Given the description of an element on the screen output the (x, y) to click on. 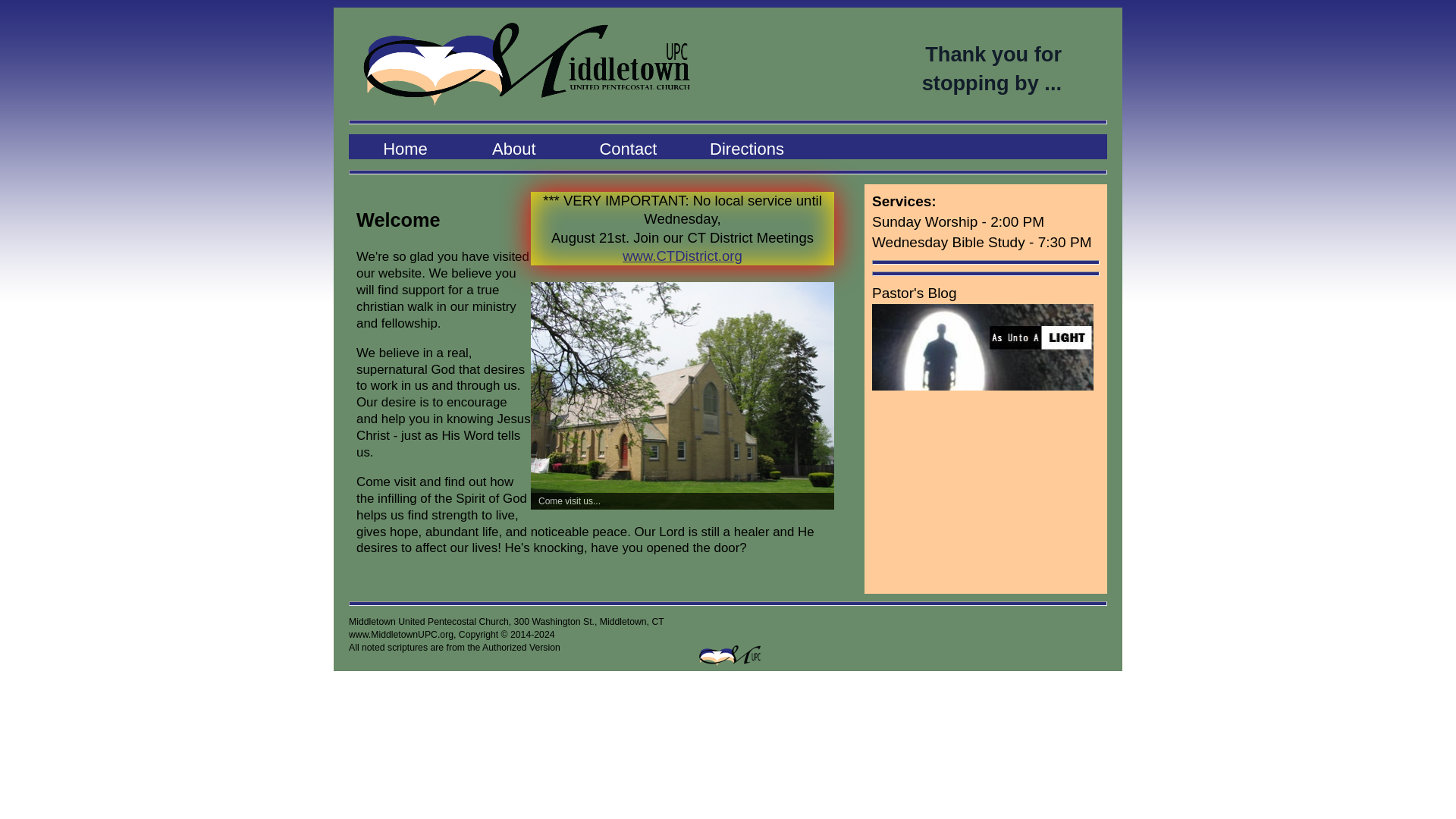
  About     (518, 146)
www.CTDistrict.org (693, 289)
    Directions       (747, 160)
      Questions...  (860, 160)
  Contact     (633, 146)
www.CTDistrict.org (585, 289)
www.CTDistrict.org (682, 255)
    Home     (405, 146)
